Given the description of an element on the screen output the (x, y) to click on. 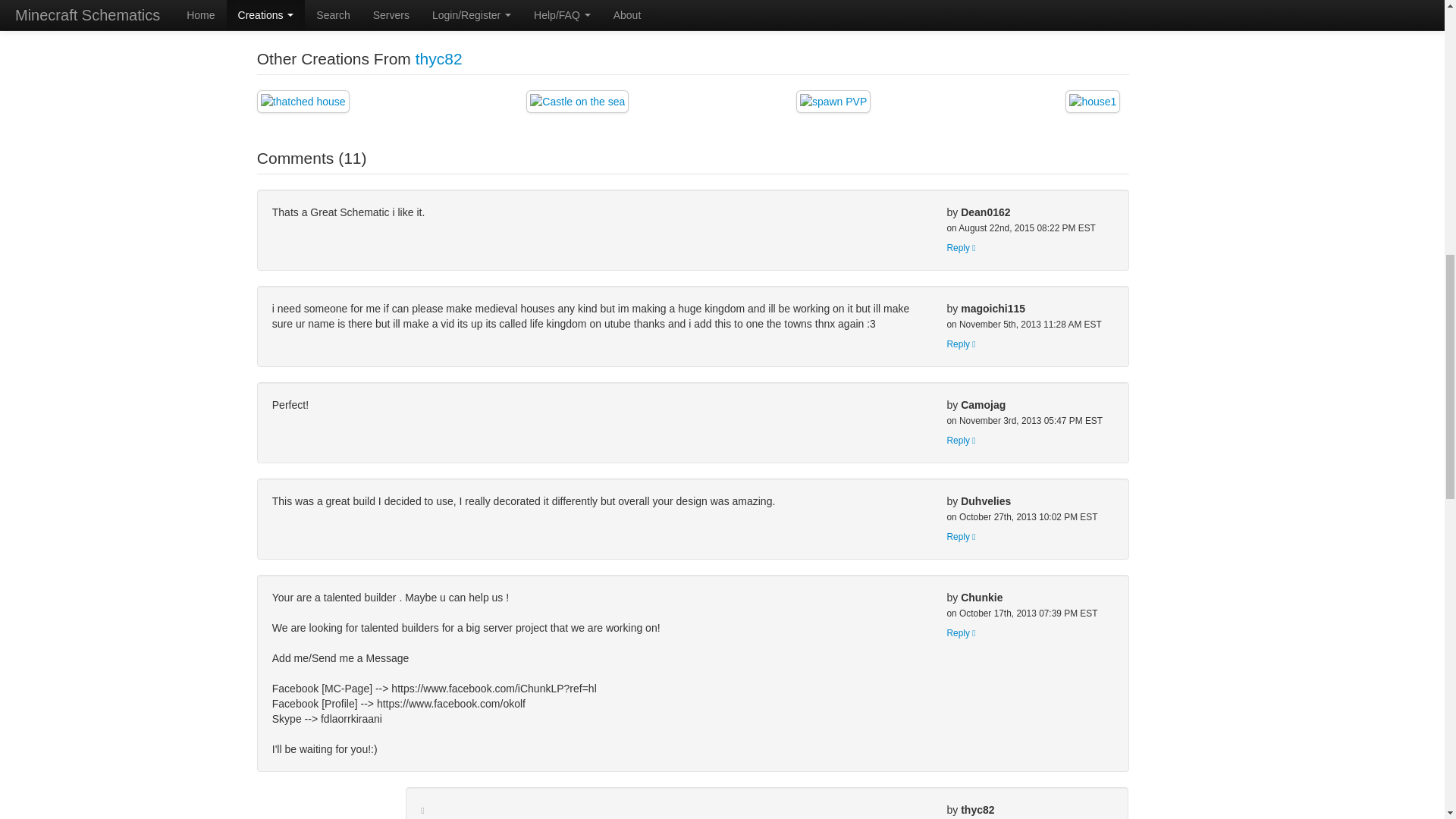
house1 (1092, 101)
thatched house (303, 101)
Reply (960, 633)
spawn PVP (833, 101)
Reply (960, 536)
Reply (960, 247)
Reply (960, 344)
Reply (960, 439)
Castle on the sea (576, 101)
